Given the description of an element on the screen output the (x, y) to click on. 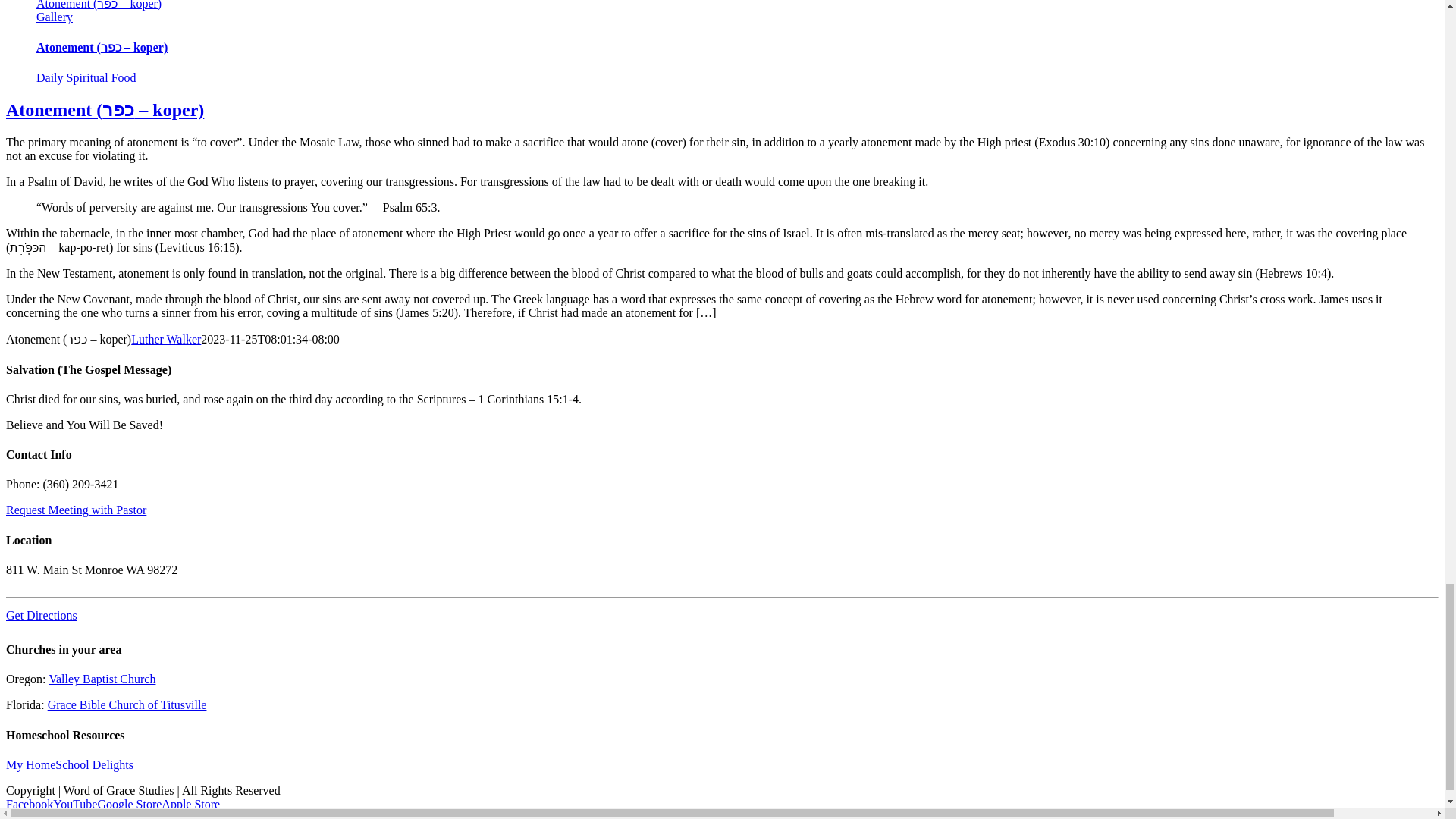
Apple Store (190, 803)
Posts by Luther Walker (165, 338)
YouTube (74, 803)
Facebook (28, 803)
Google Store (129, 803)
